Given the description of an element on the screen output the (x, y) to click on. 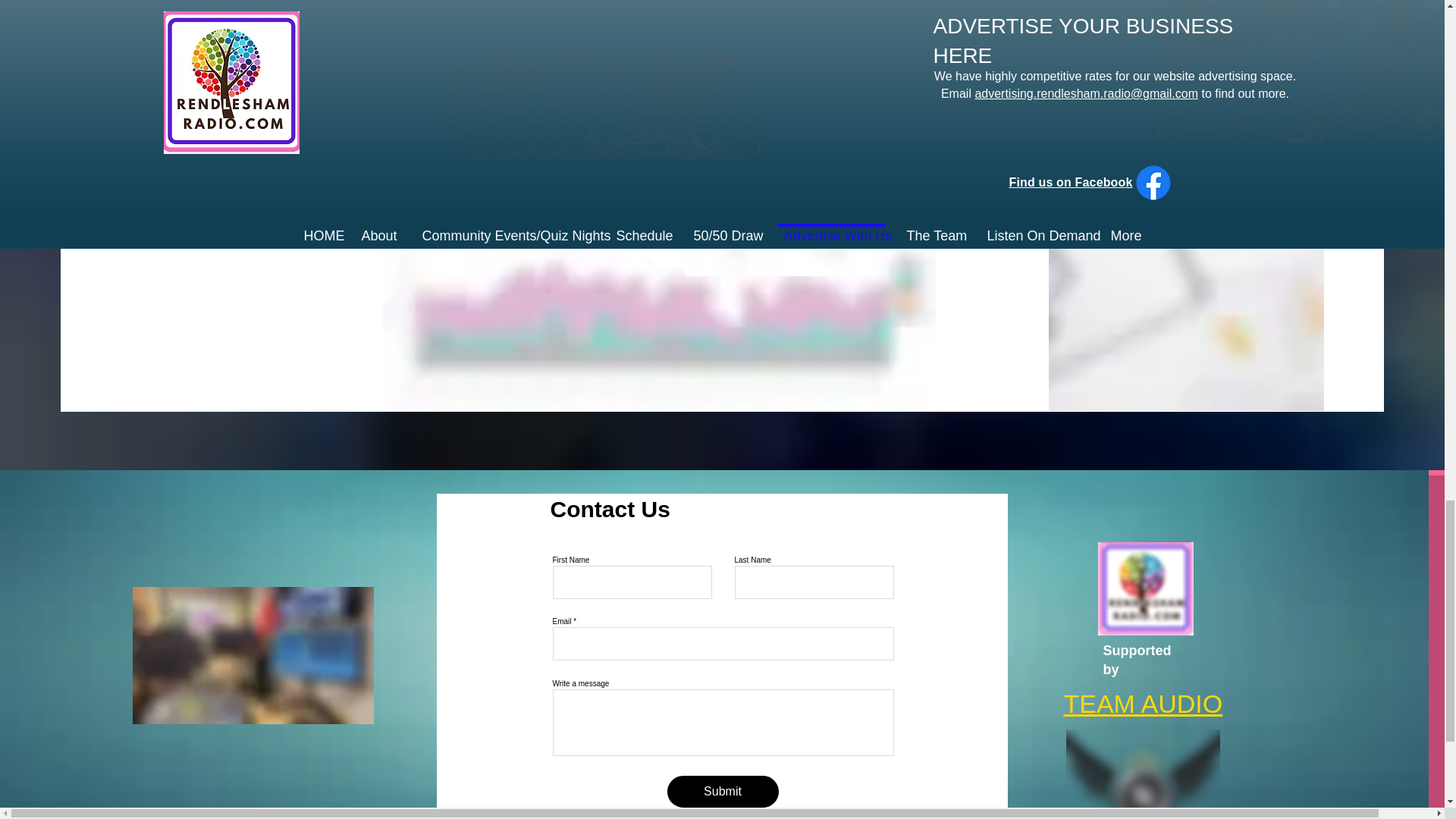
TEAM AUDIO (1142, 703)
stat1.JPG (780, 228)
stat3.JPG (657, 309)
Submit (722, 791)
